Given the description of an element on the screen output the (x, y) to click on. 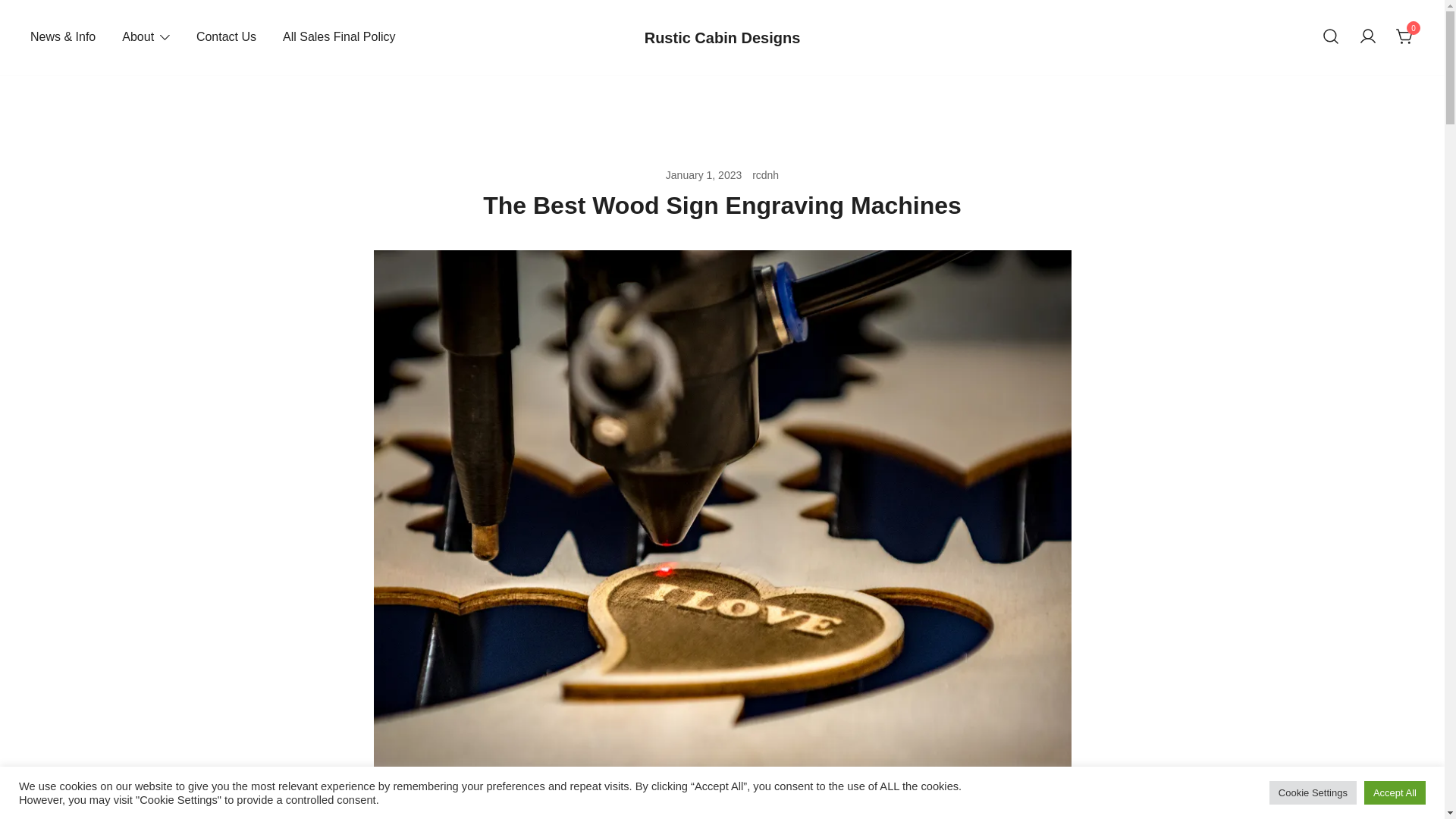
Contact Us (226, 37)
All Sales Final Policy (339, 37)
About (138, 37)
rcdnh (765, 174)
January 1, 2023 (703, 174)
Cookie Settings (1312, 792)
0 (1404, 37)
View your shopping cart (1404, 36)
Rustic Cabin Designs (722, 36)
0 (1404, 36)
Accept All (1394, 792)
